Given the description of an element on the screen output the (x, y) to click on. 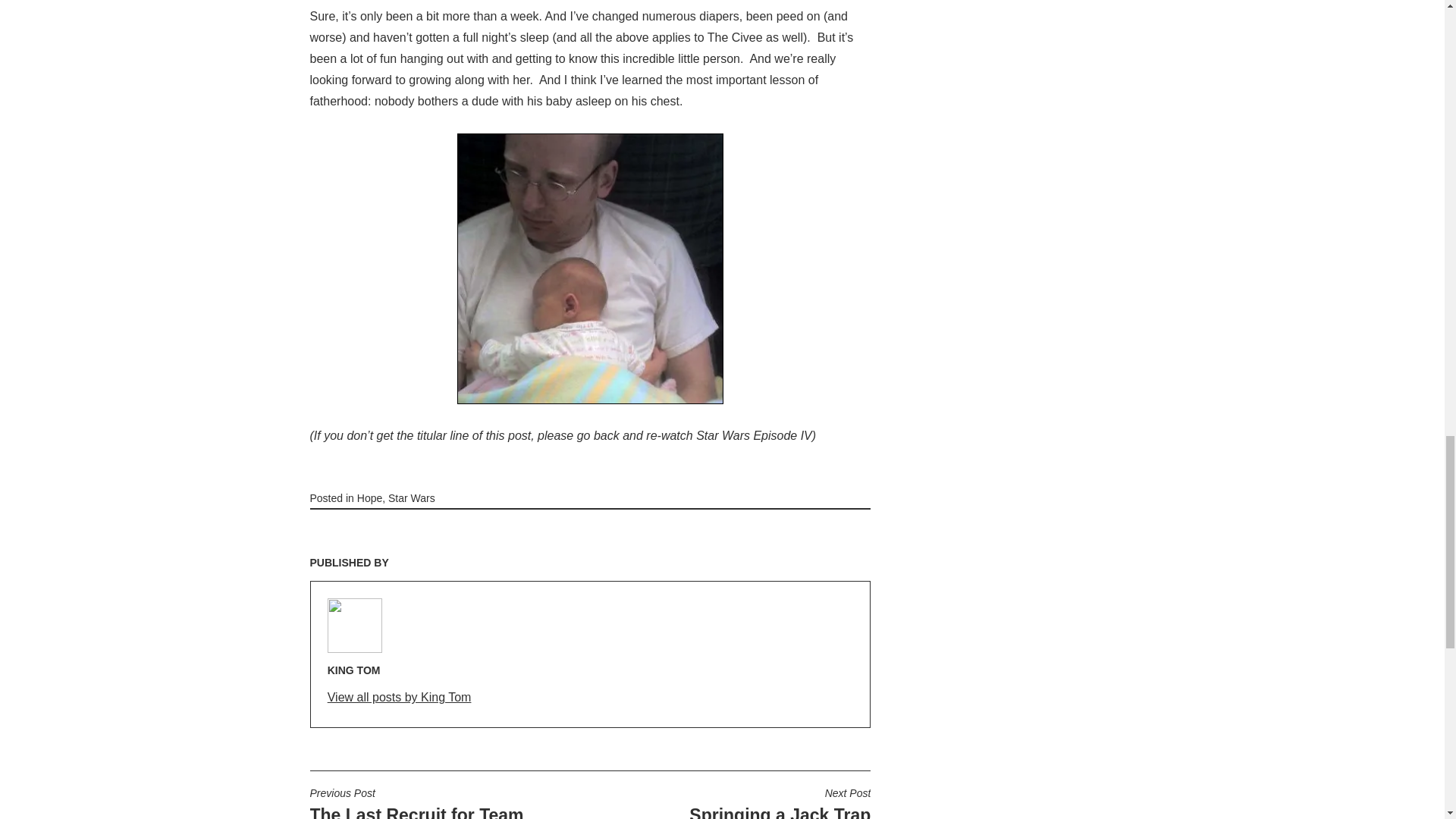
Don't bother me. My daughter's asleep. (590, 268)
Hope (779, 802)
View all posts by King Tom (368, 498)
Star Wars (399, 698)
